Given the description of an element on the screen output the (x, y) to click on. 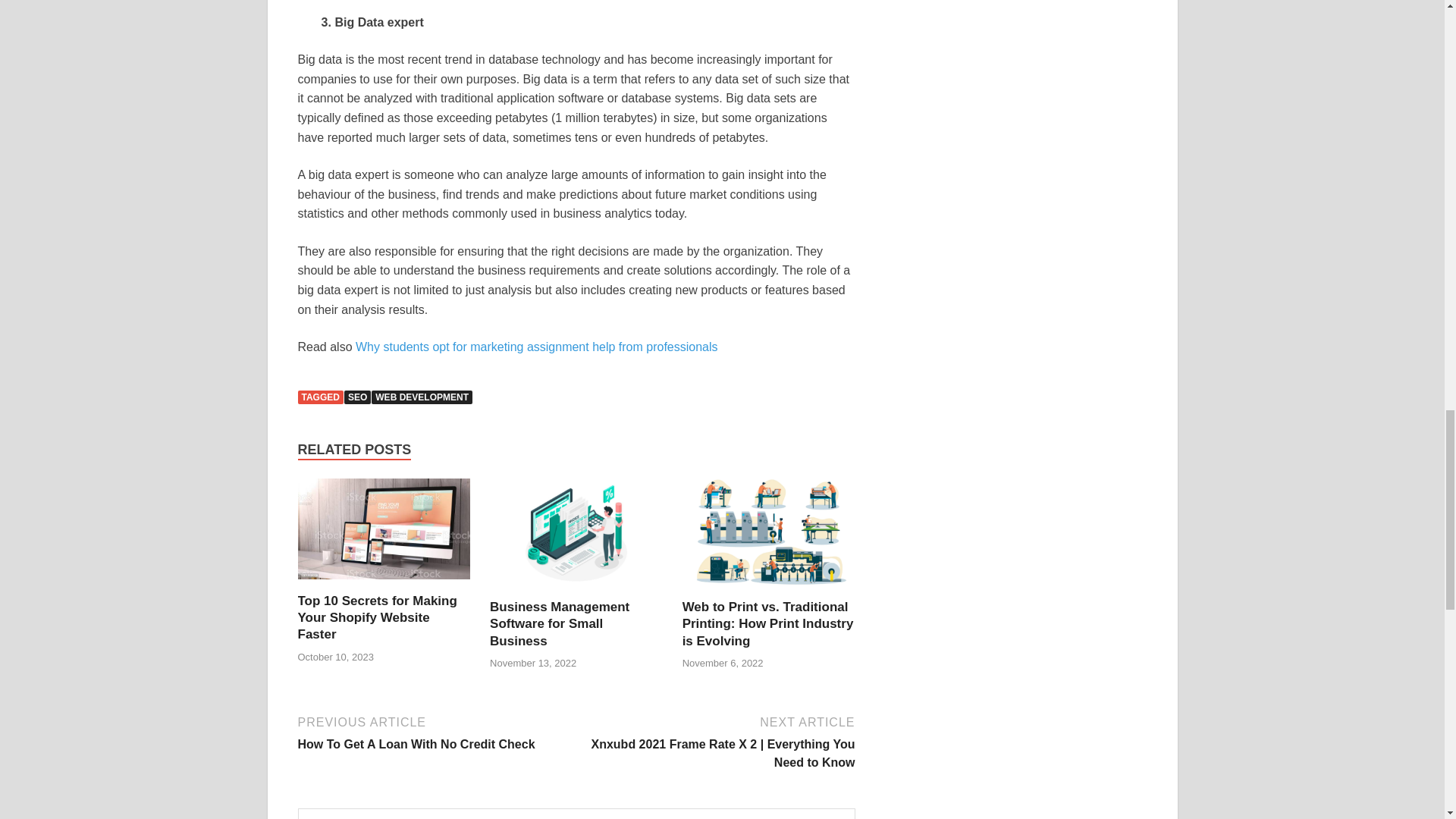
Top 10 Secrets for Making Your Shopify Website Faster (383, 583)
Top 10 Secrets for Making Your Shopify Website Faster (377, 617)
Business Management Software for Small Business (575, 589)
Business Management Software for Small Business (558, 623)
